Given the description of an element on the screen output the (x, y) to click on. 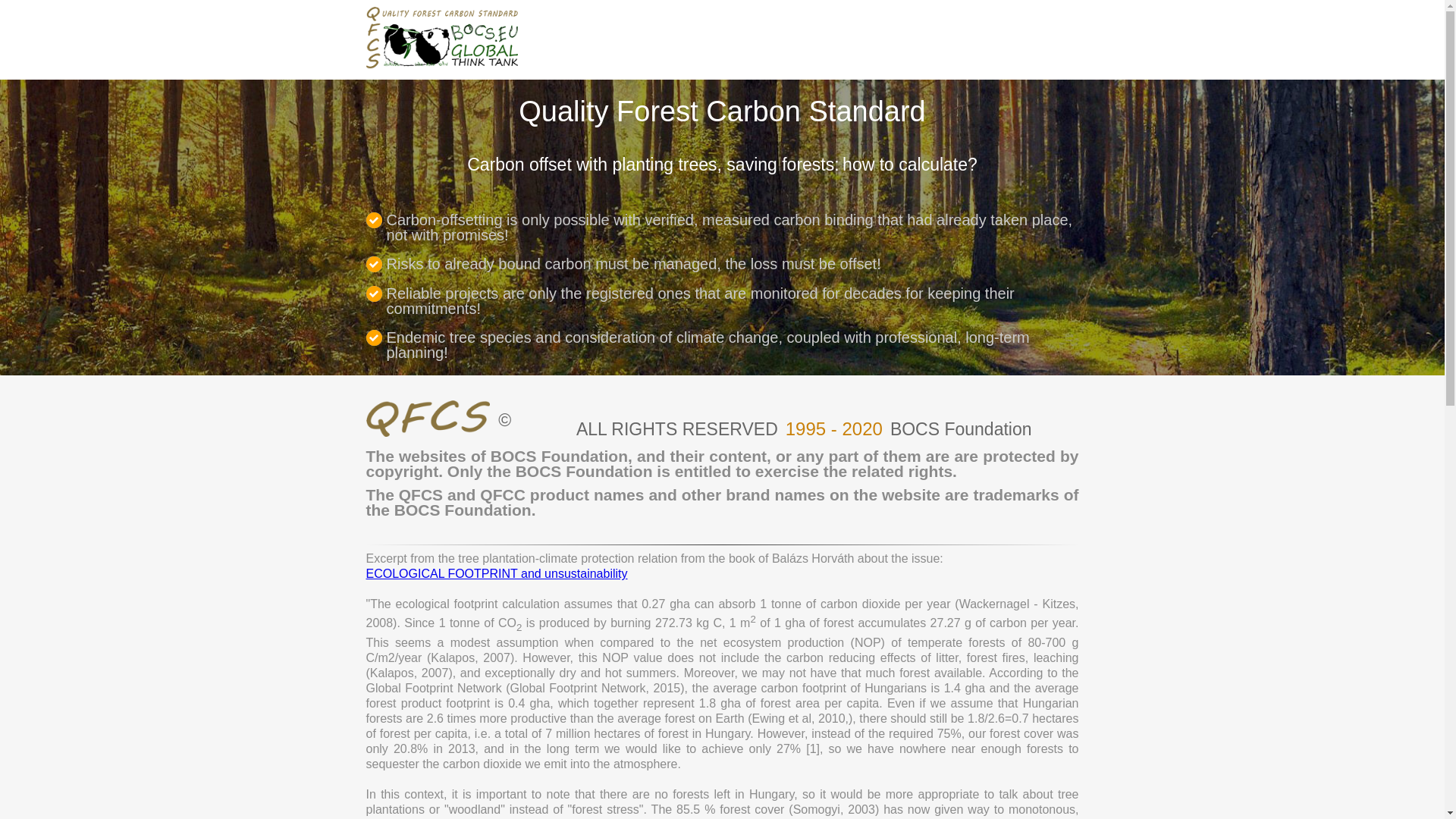
ECOLOGICAL FOOTPRINT and unsustainability Element type: text (496, 573)
